Given the description of an element on the screen output the (x, y) to click on. 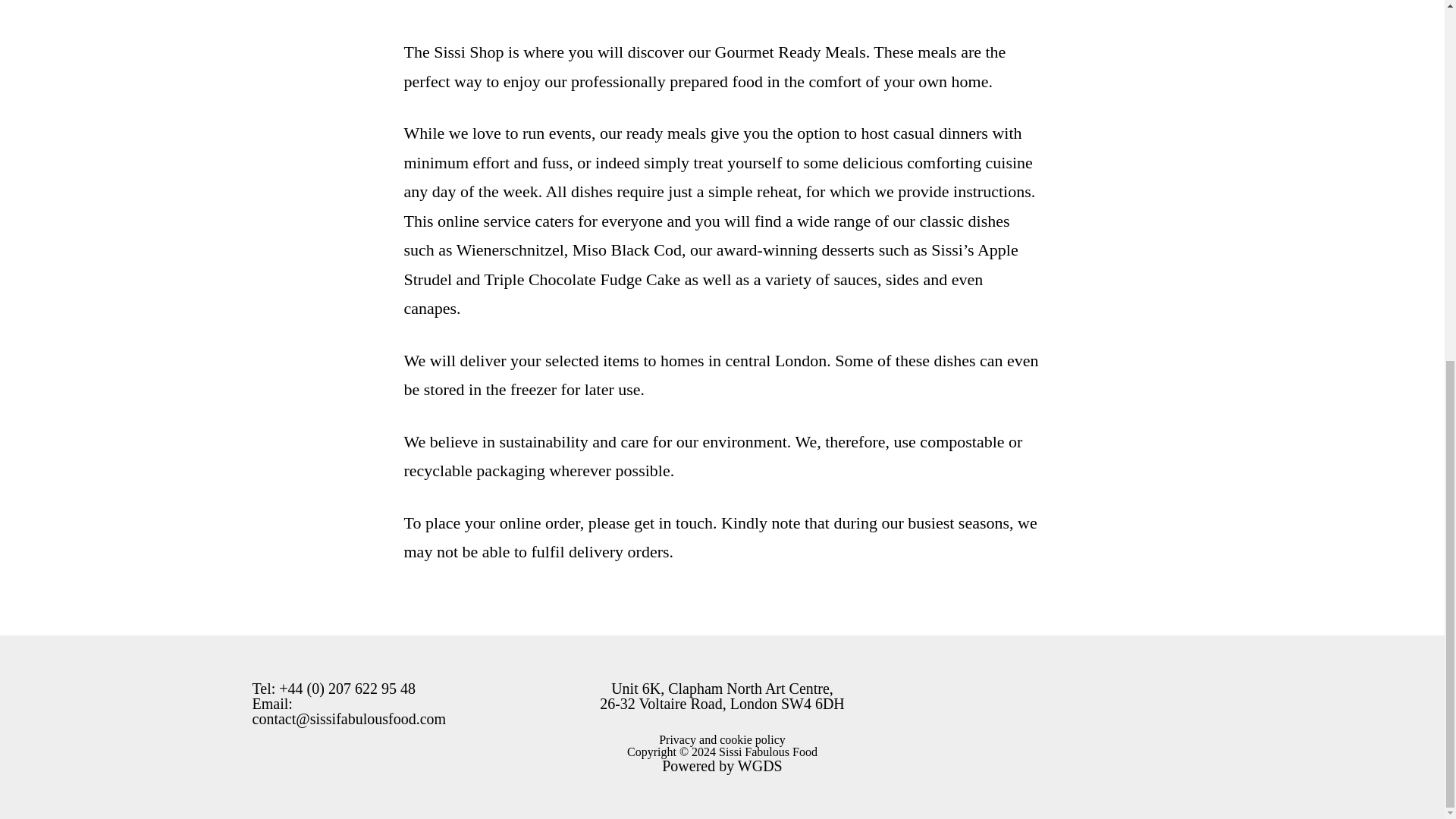
Privacy and cookie policy (722, 738)
